Given the description of an element on the screen output the (x, y) to click on. 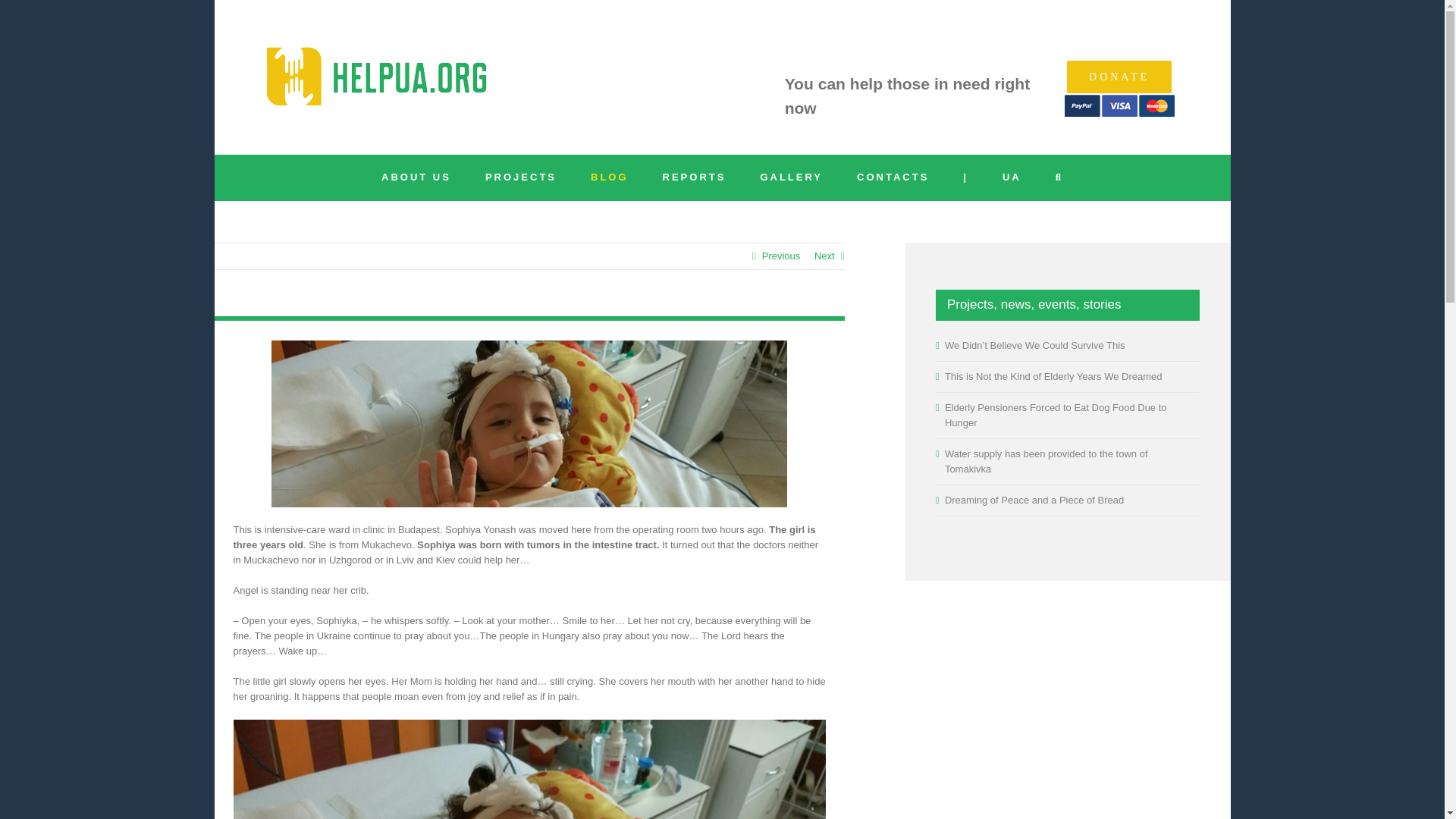
Dreaming of Peace and a Piece of Bread (1034, 500)
GALLERY (791, 176)
This is Not the Kind of Elderly Years We Dreamed (1052, 376)
Previous (780, 256)
REPORTS (694, 176)
ABOUT US (416, 176)
Elderly Pensioners Forced to Eat Dog Food Due to Hunger (1055, 415)
PROJECTS (520, 176)
CONTACTS (892, 176)
DONATE (1119, 76)
